Given the description of an element on the screen output the (x, y) to click on. 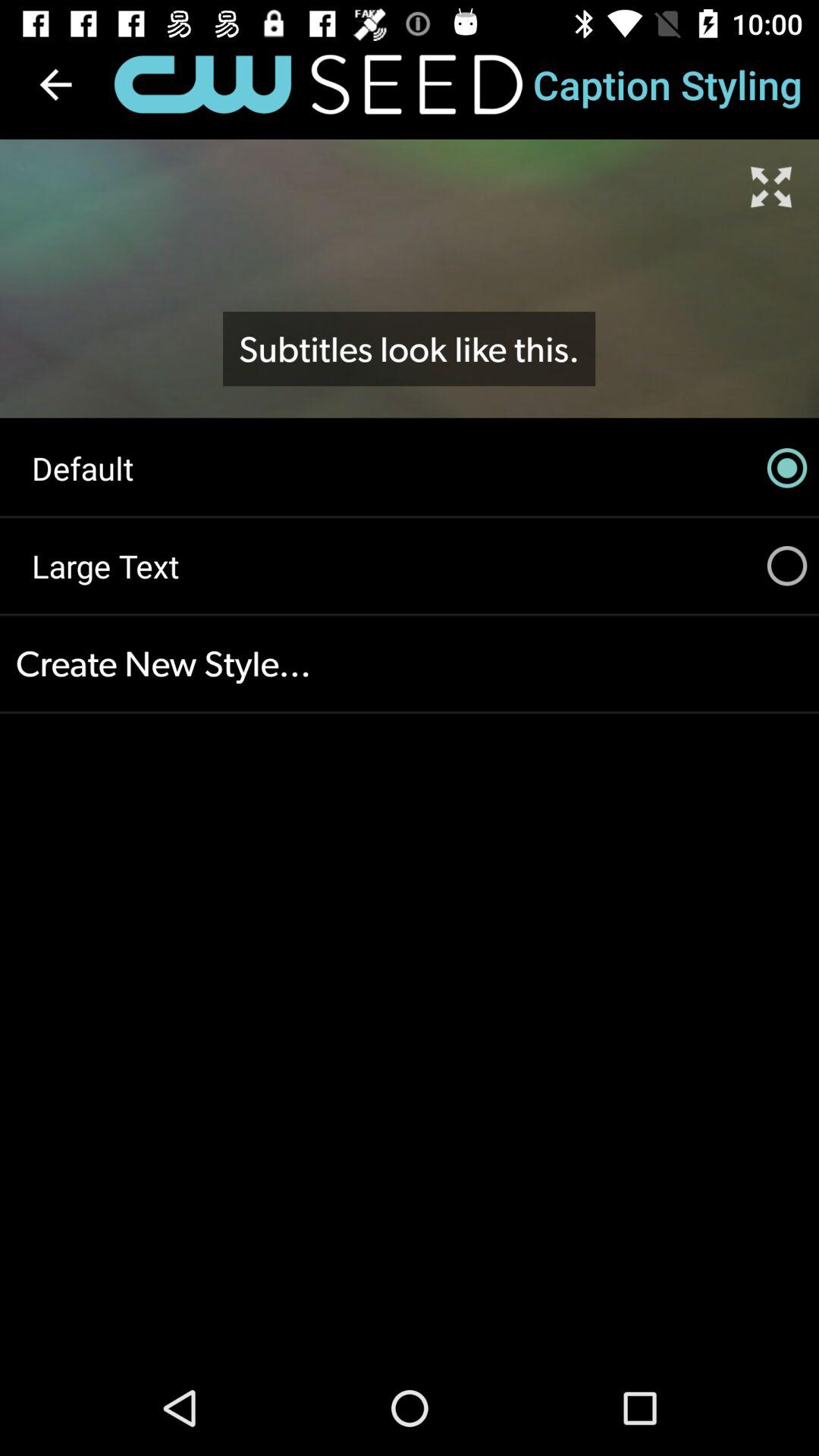
press the large text icon (409, 565)
